Given the description of an element on the screen output the (x, y) to click on. 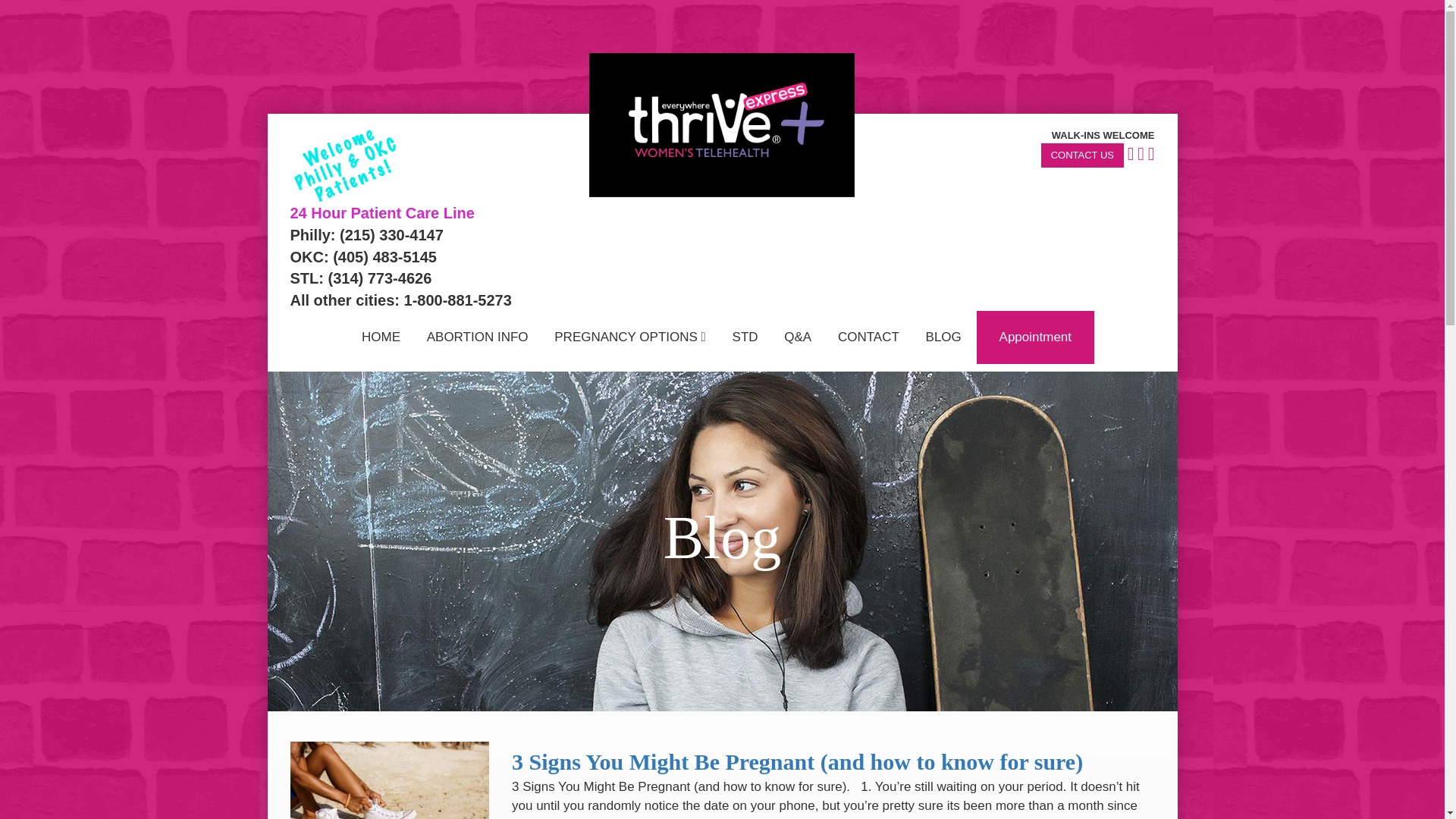
STD (745, 337)
CONTACT US (1082, 155)
Home (381, 337)
BLOG (943, 337)
Blog (943, 337)
Pregnancy Options (630, 337)
Read More (923, 817)
Appointment (1035, 337)
Abortion Info (477, 337)
CONTACT (869, 337)
Contact (869, 337)
PREGNANCY OPTIONS (630, 337)
ABORTION INFO (477, 337)
STD (745, 337)
HOME (381, 337)
